Given the description of an element on the screen output the (x, y) to click on. 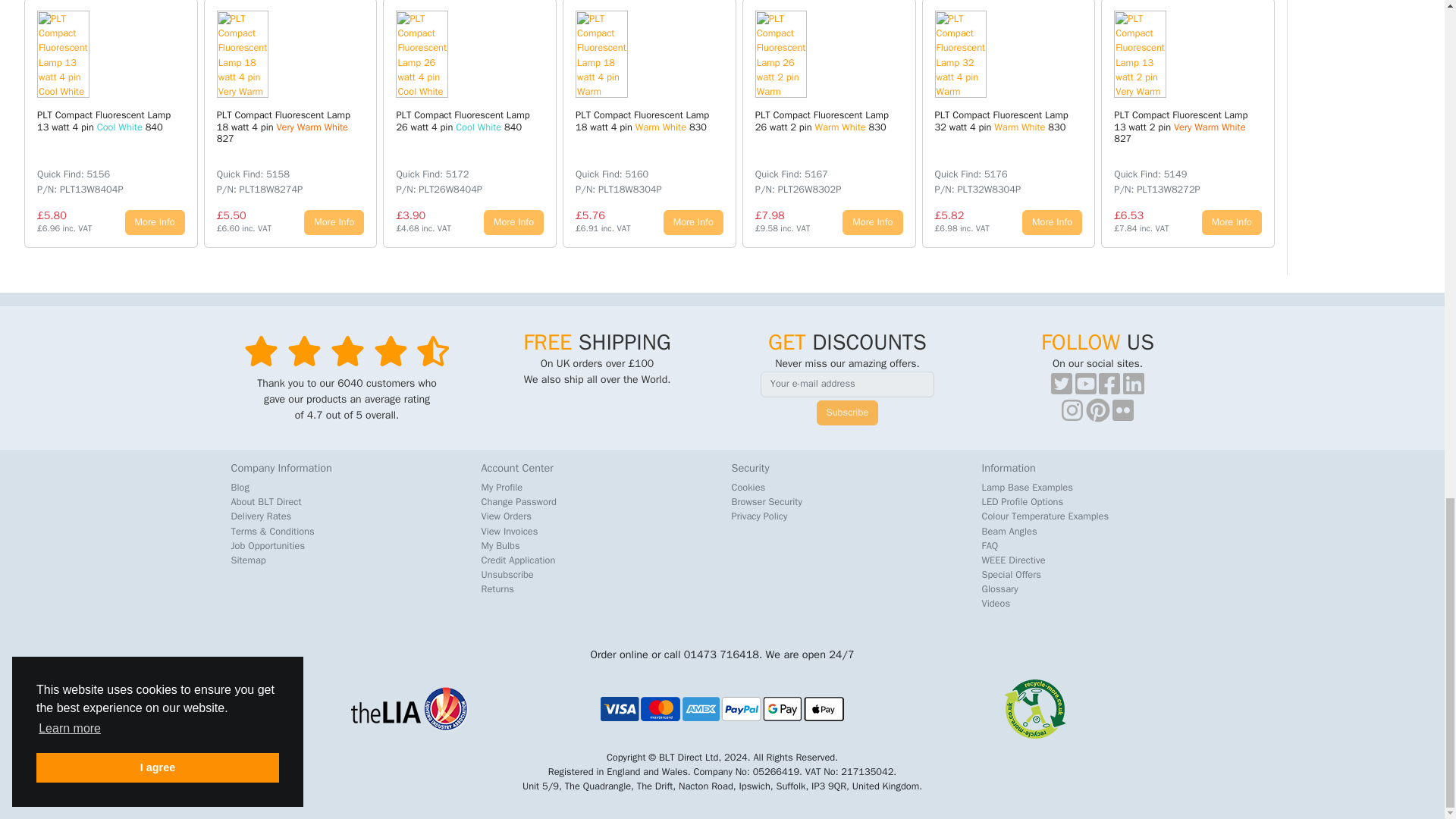
PLT Compact Fluorescent Lamp 13 watt 4 pin Cool White 840 (92, 53)
